Given the description of an element on the screen output the (x, y) to click on. 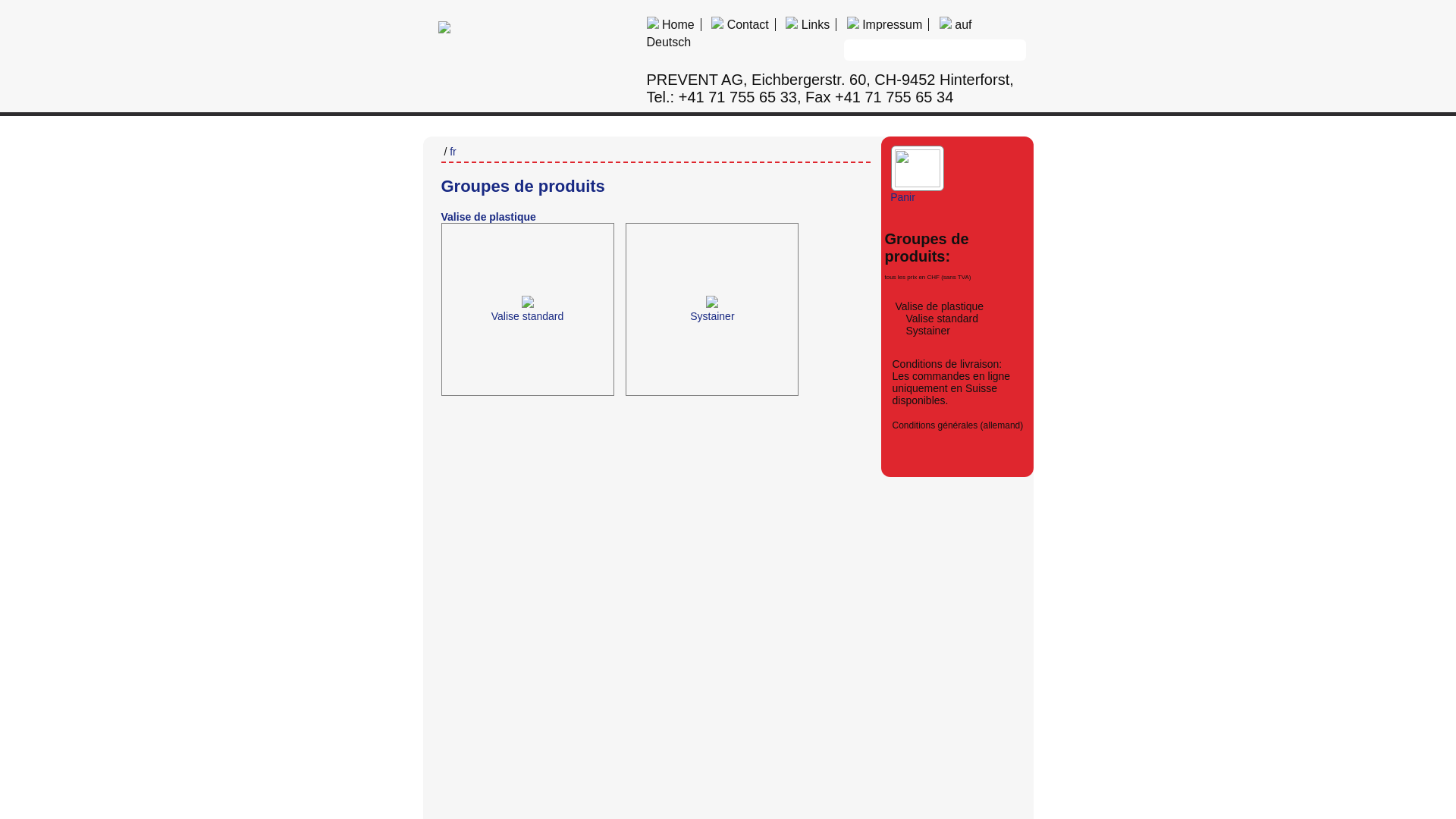
Impressum Element type: text (884, 24)
Valise de plastique Element type: text (488, 216)
Systainer Element type: text (927, 330)
Valise standard Element type: text (532, 400)
Links Element type: text (807, 24)
Valise standard Element type: text (941, 318)
Valise de plastique Element type: text (938, 306)
Home Element type: text (669, 24)
auf Deutsch Element type: text (808, 33)
Contact Element type: text (739, 24)
fr Element type: text (452, 151)
Systainer Element type: text (716, 400)
   Panir Element type: text (912, 190)
